Given the description of an element on the screen output the (x, y) to click on. 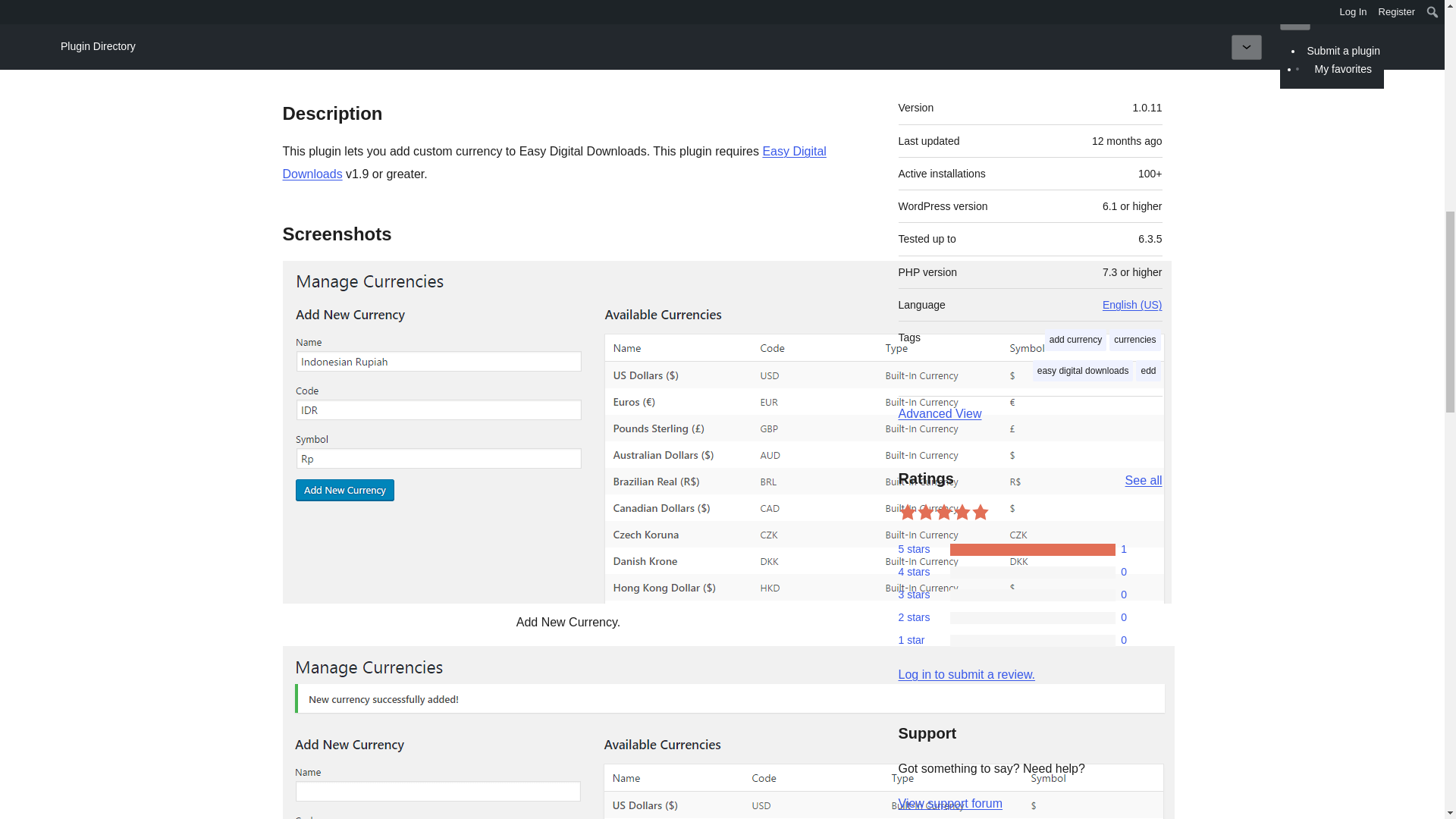
Easy Digital Downloads (553, 162)
Reviews (392, 45)
Installation (480, 45)
Log in to WordPress.org (966, 674)
Details (316, 45)
Support (1132, 45)
Development (580, 45)
